Given the description of an element on the screen output the (x, y) to click on. 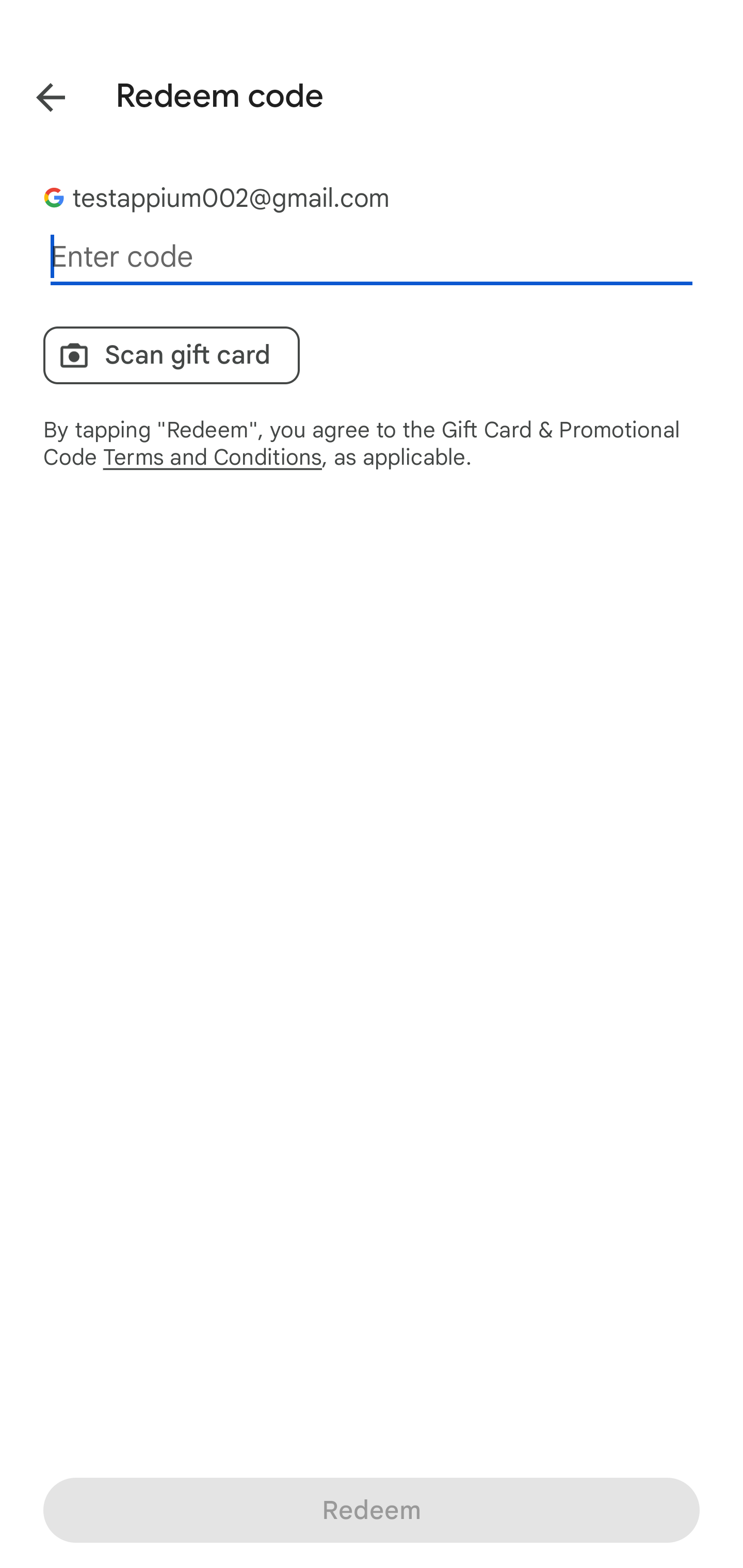
Back (36, 94)
Enter code (371, 256)
Scan gift card (171, 355)
